Given the description of an element on the screen output the (x, y) to click on. 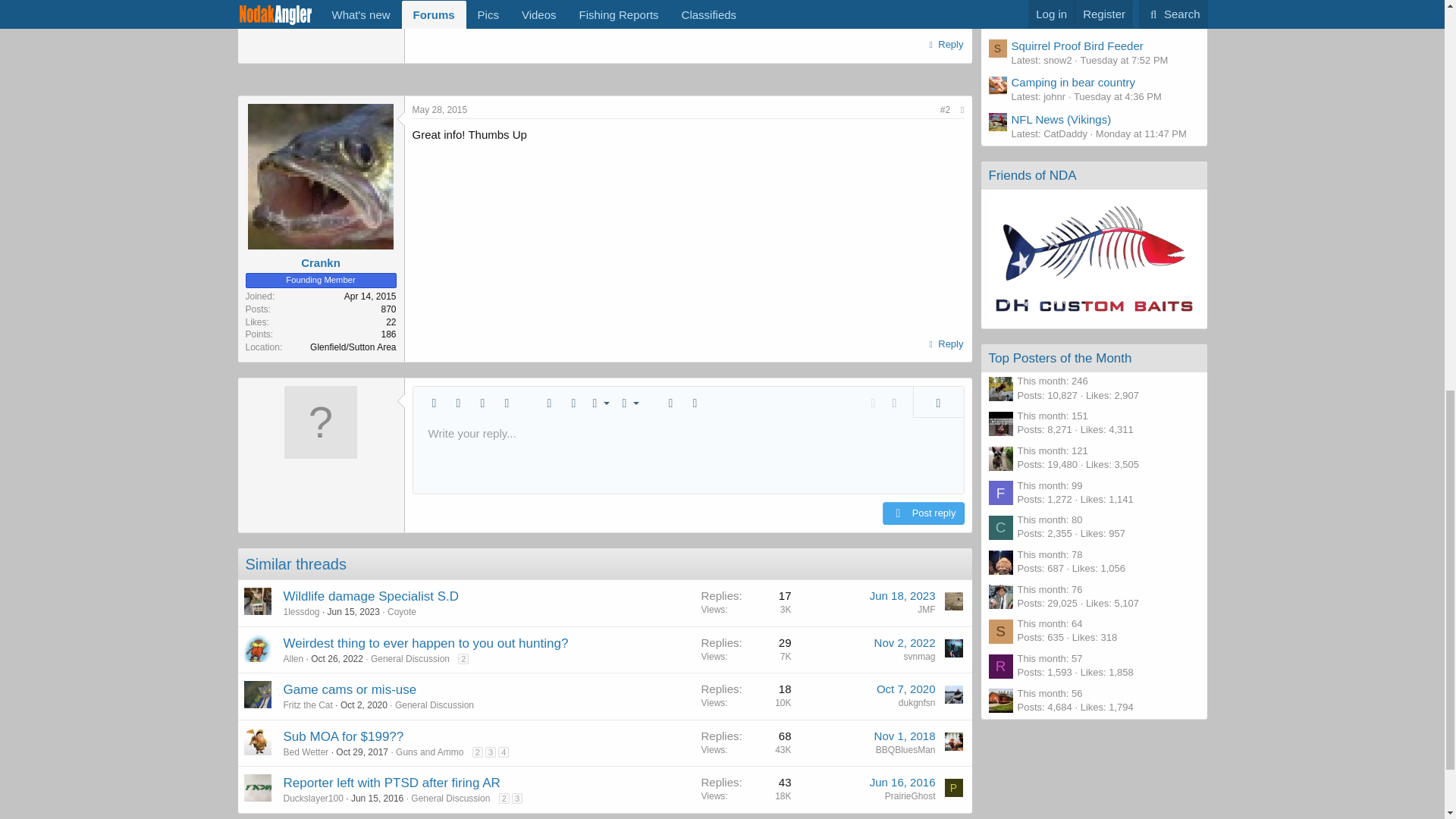
Reply, quoting this message (944, 343)
Reply, quoting this message (944, 44)
Reply (944, 44)
May 28, 2015 at 9:54 PM (439, 109)
